Given the description of an element on the screen output the (x, y) to click on. 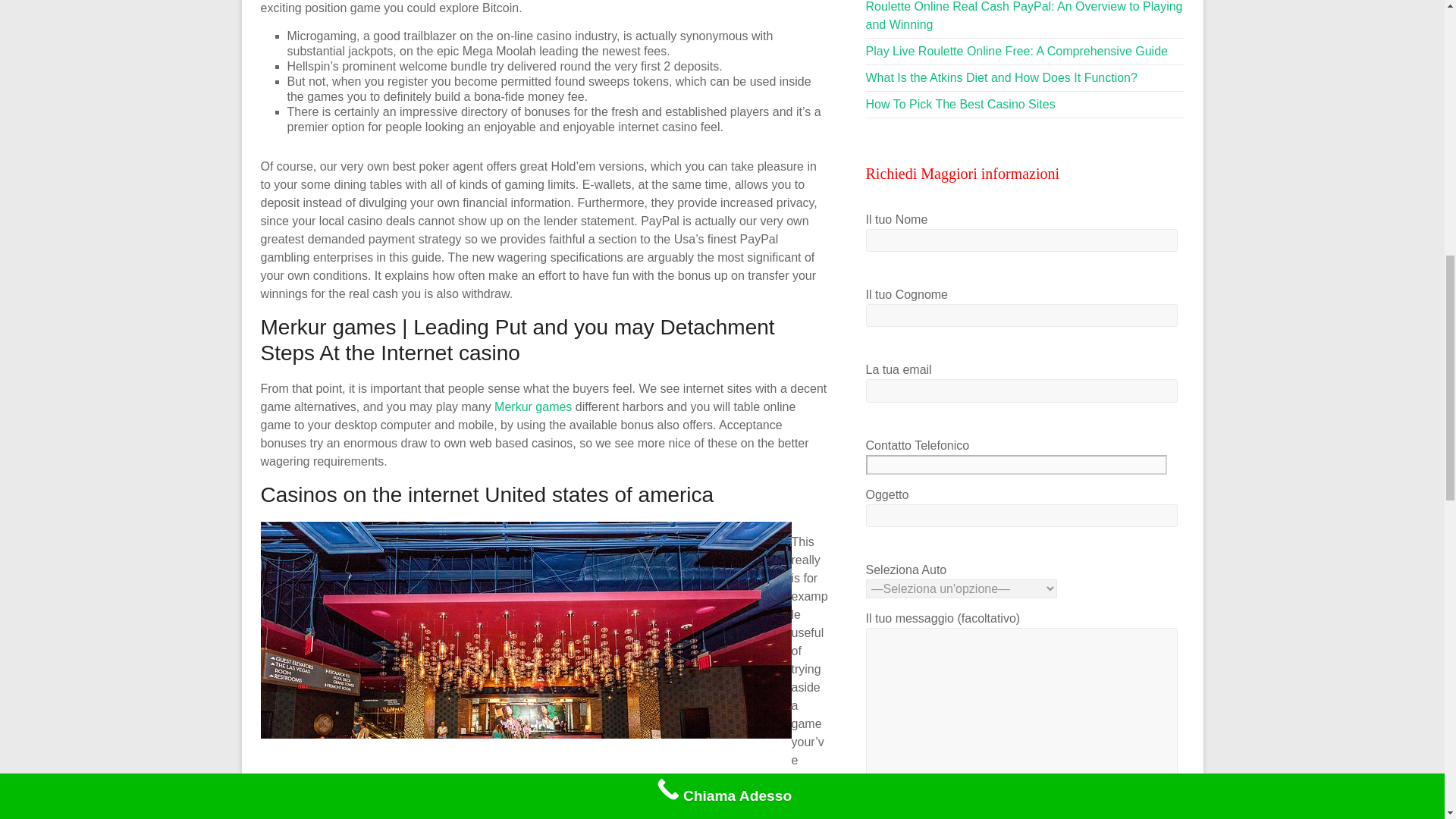
Merkur games (533, 406)
